Given the description of an element on the screen output the (x, y) to click on. 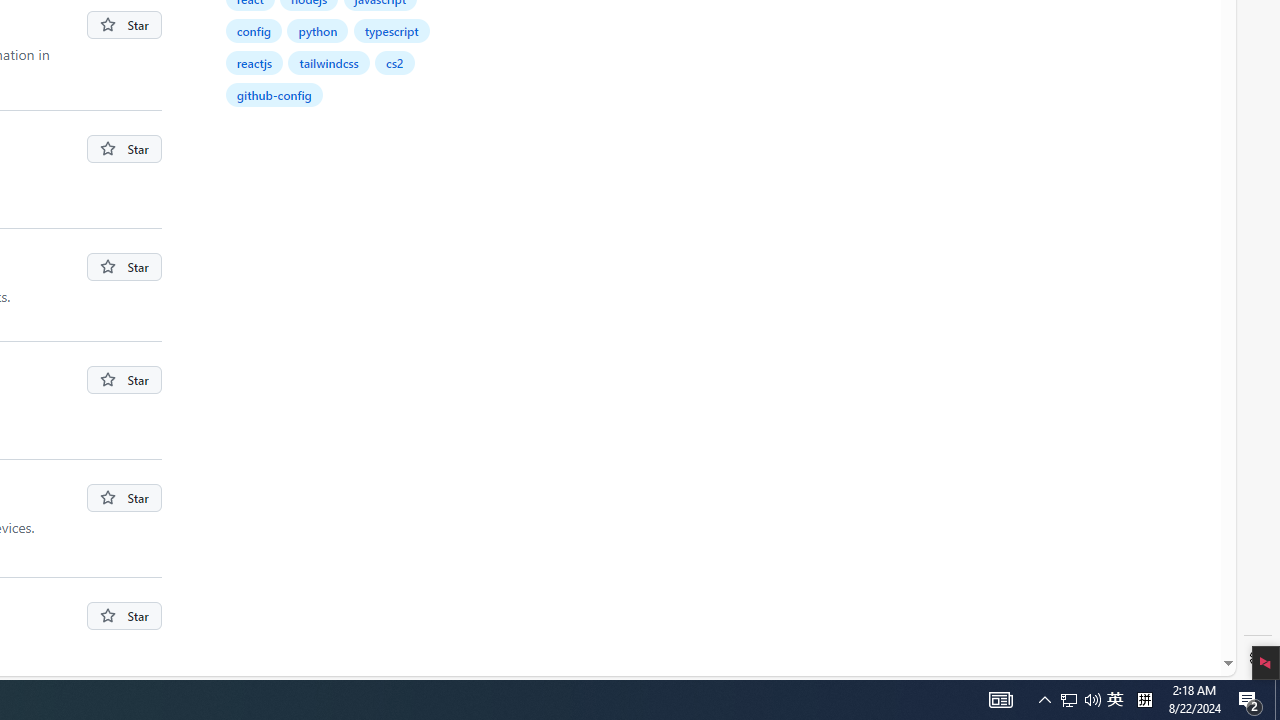
github-config (275, 94)
